Given the description of an element on the screen output the (x, y) to click on. 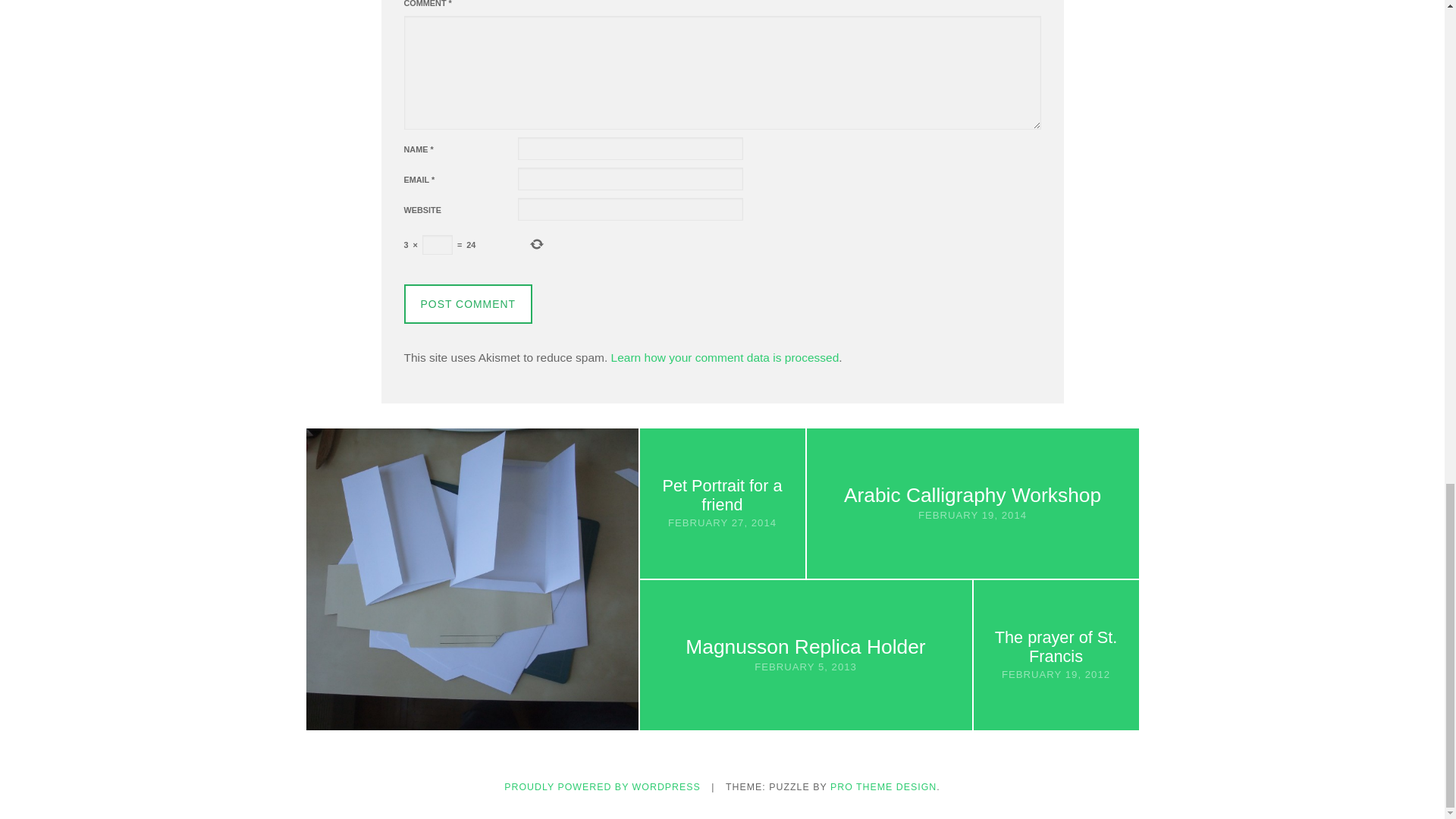
Post Comment (467, 303)
The prayer of St. Francis (1056, 646)
PRO THEME DESIGN (882, 787)
Arabic Calligraphy Workshop (972, 495)
Post Comment (467, 303)
A Semantic Personal Publishing Platform (601, 787)
Magnusson Replica Holder (804, 646)
Pet Portrait for a friend (722, 494)
Learn how your comment data is processed (725, 357)
PROUDLY POWERED BY WORDPRESS (601, 787)
2014 Summer Exchange Cards (472, 570)
